Given the description of an element on the screen output the (x, y) to click on. 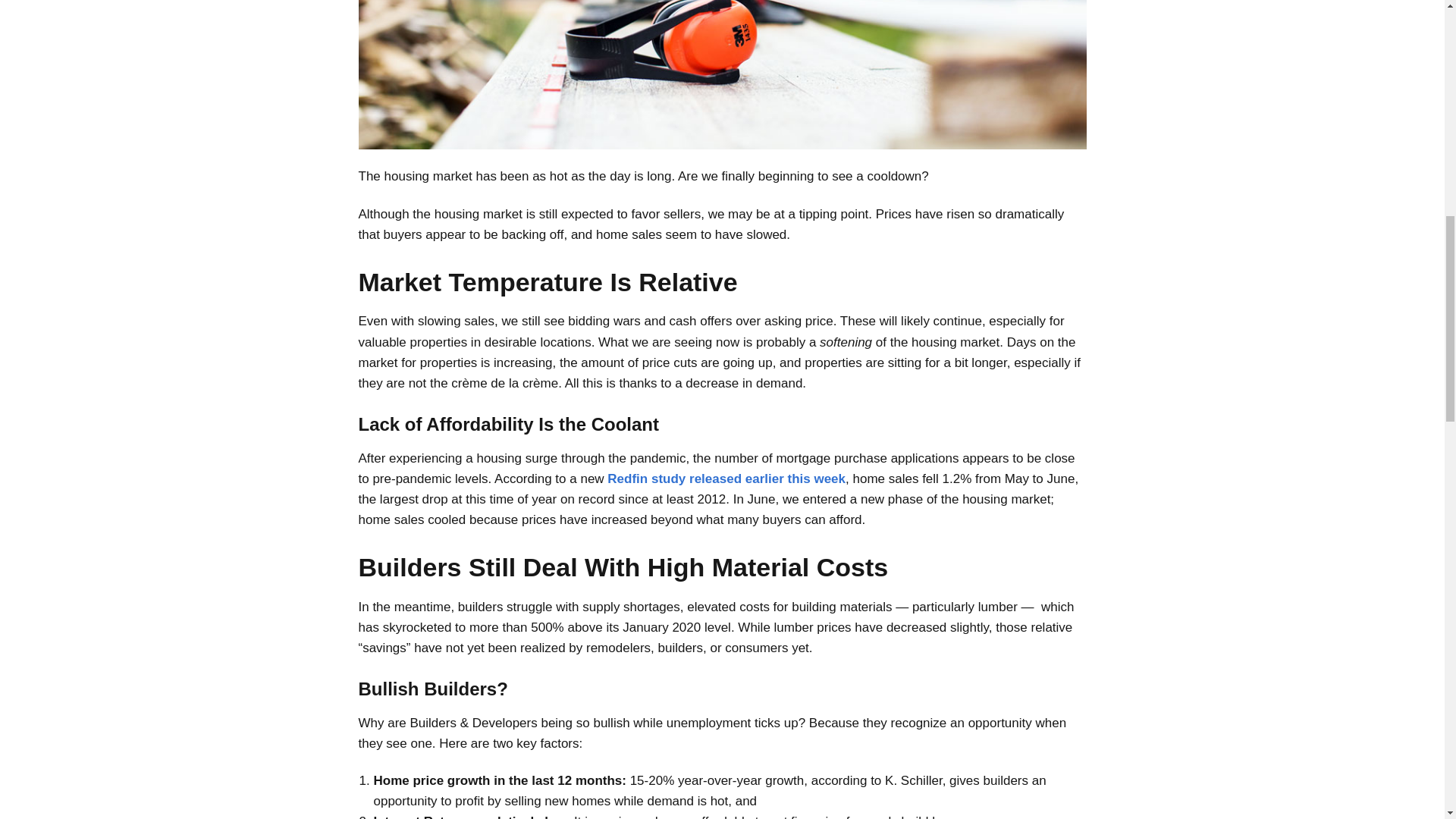
Redfin study released earlier this week (726, 478)
